Given the description of an element on the screen output the (x, y) to click on. 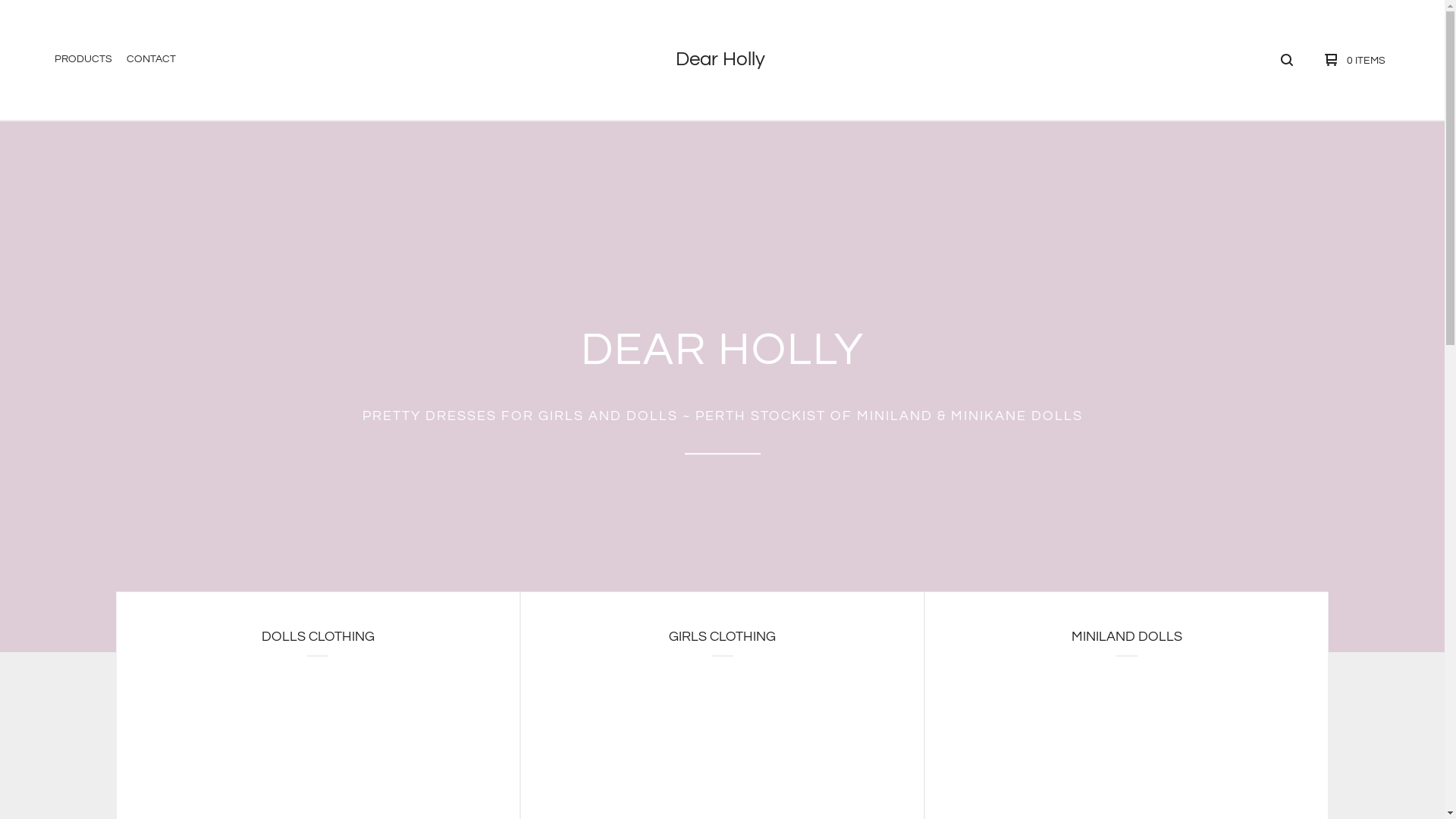
0 ITEMS Element type: text (1351, 59)
Dear Holly Element type: text (720, 59)
CONTACT Element type: text (151, 59)
PRODUCTS Element type: text (83, 59)
